Given the description of an element on the screen output the (x, y) to click on. 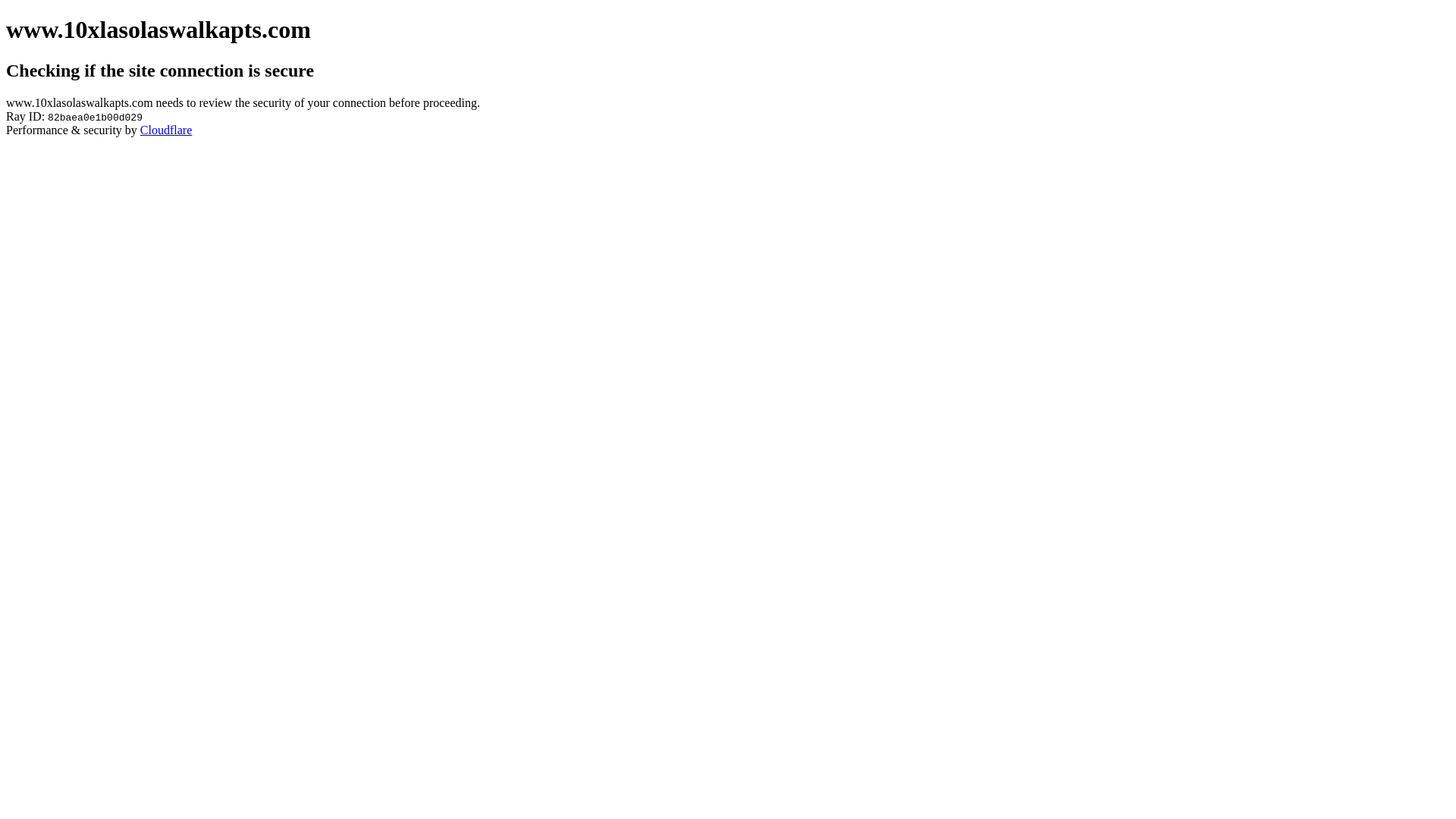
Cloudflare Element type: text (165, 129)
